Given the description of an element on the screen output the (x, y) to click on. 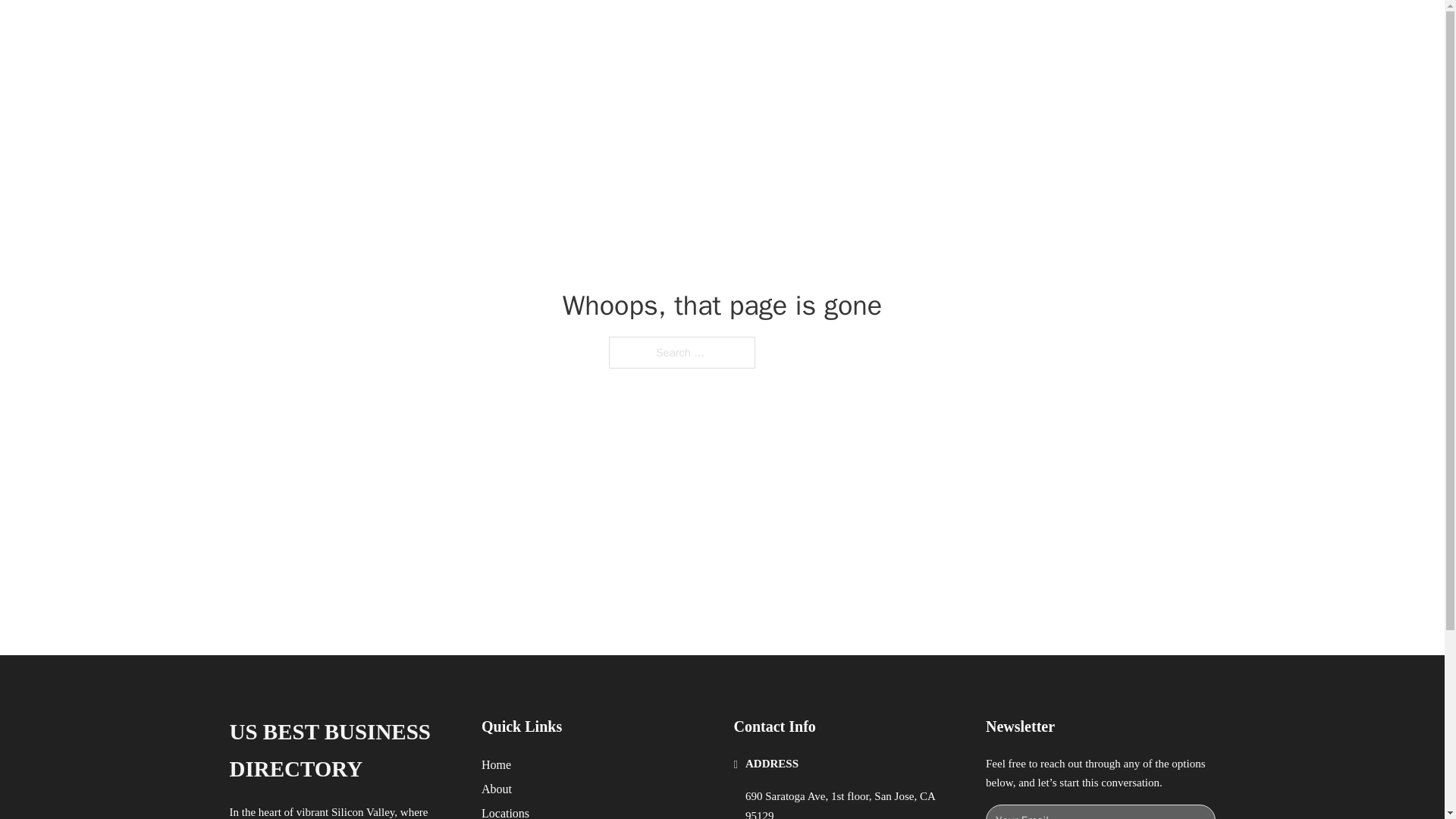
About (496, 788)
Home (496, 764)
US BEST BUSINESS DIRECTORY (464, 28)
US BEST BUSINESS DIRECTORY (343, 750)
Locations (505, 811)
